Given the description of an element on the screen output the (x, y) to click on. 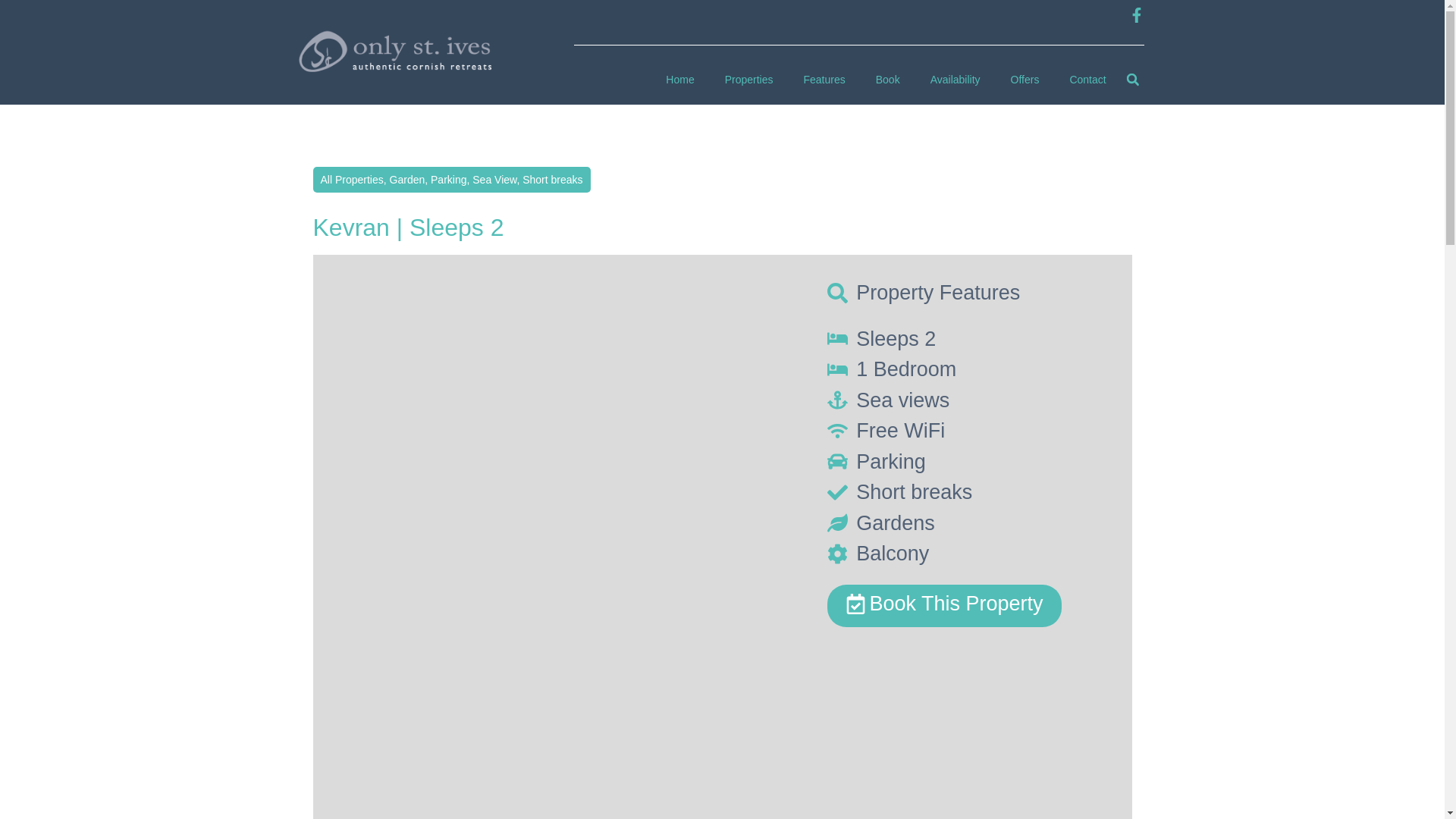
Properties (749, 79)
Features (824, 79)
Offers (1024, 79)
Book (887, 79)
Availability (955, 79)
Contact (1087, 79)
Home (679, 79)
